Given the description of an element on the screen output the (x, y) to click on. 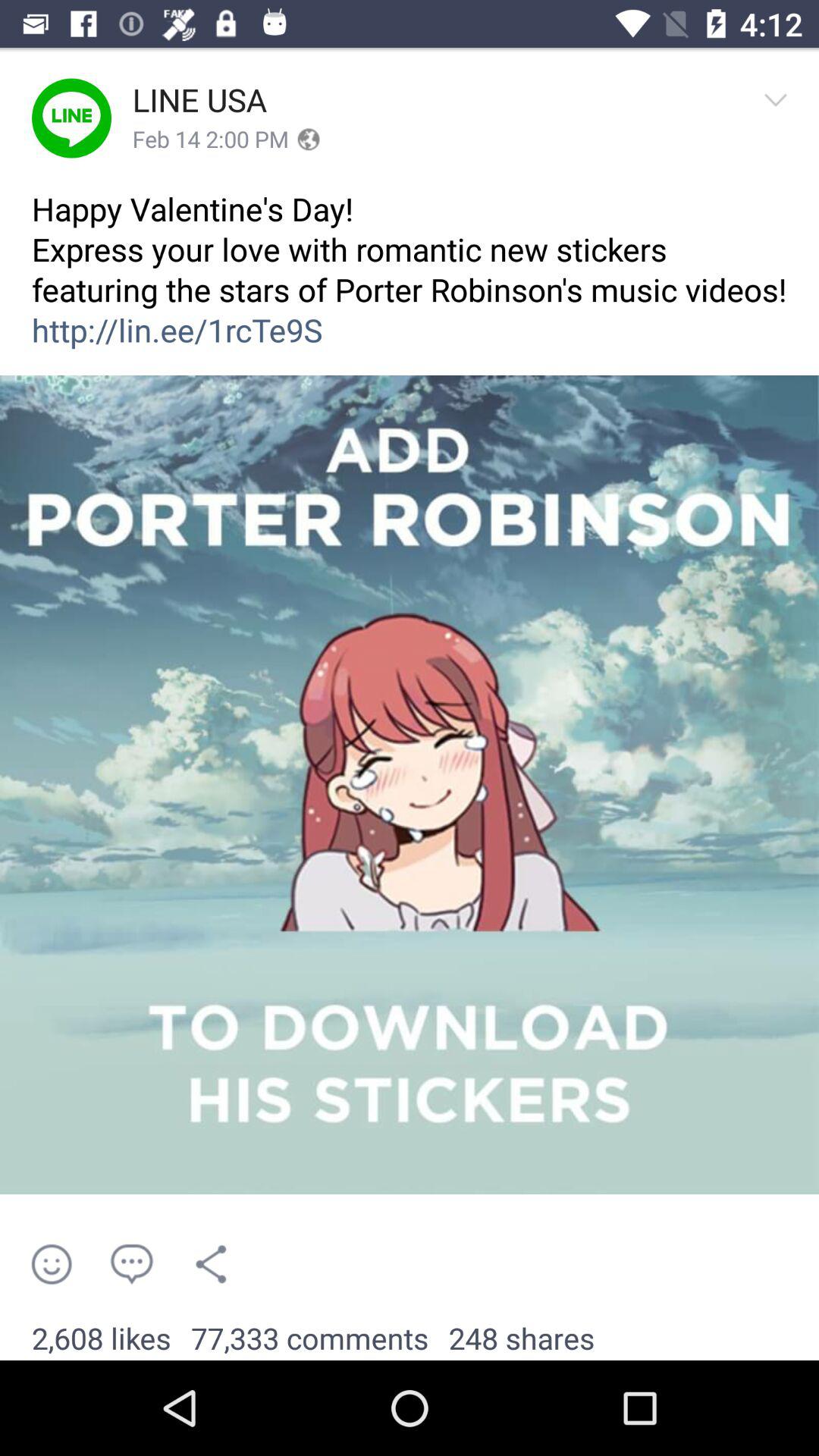
turn off the icon at the center (409, 784)
